Given the description of an element on the screen output the (x, y) to click on. 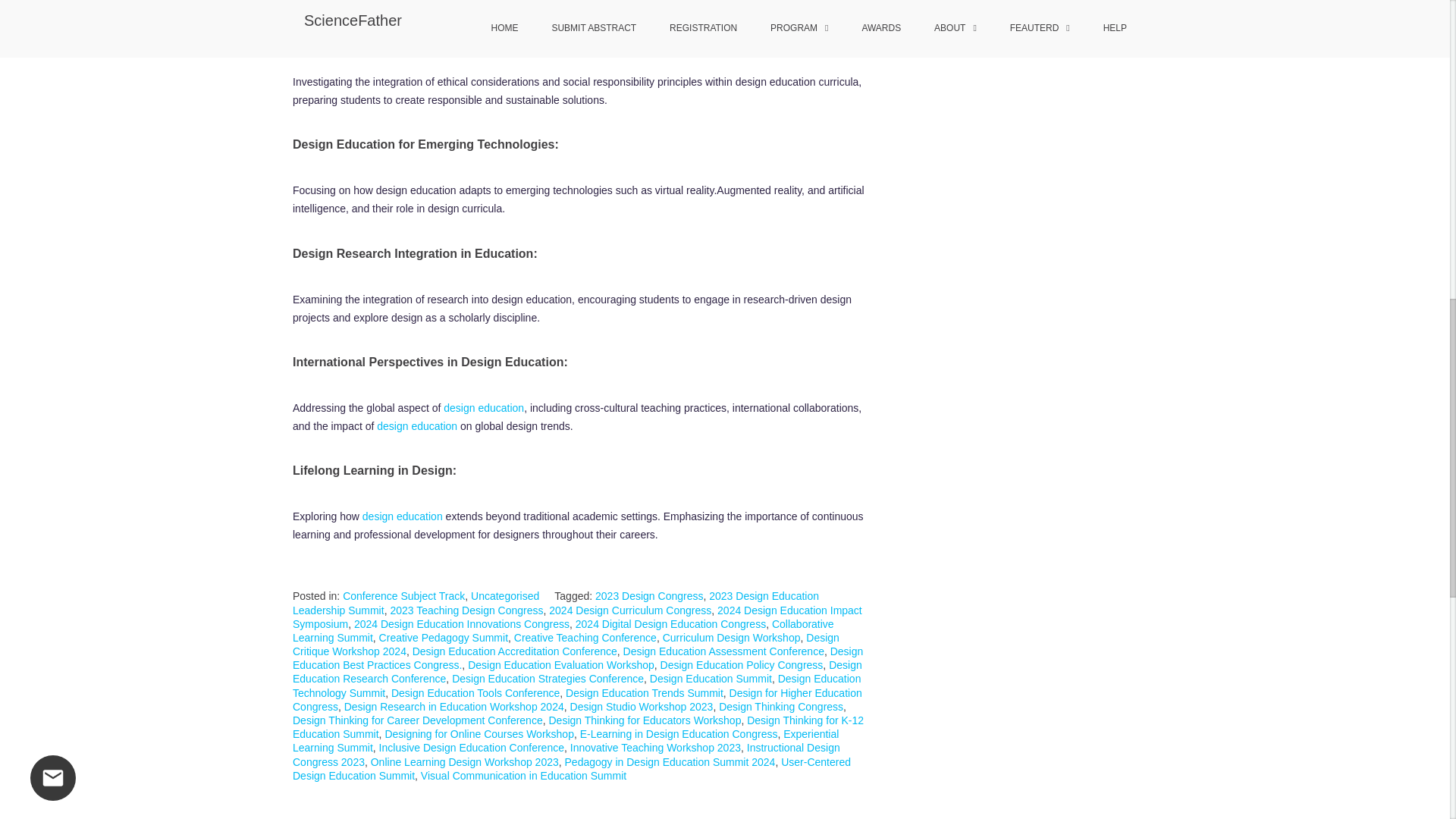
2024 Design Education Innovations Congress (461, 623)
Conference Subject Track (403, 595)
2023 Design Education Leadership Summit (555, 602)
2024 Design Curriculum Congress (629, 610)
2023 Design Congress (649, 595)
design education (402, 516)
design education (417, 426)
Uncategorised (504, 595)
Collaborative Learning Summit (563, 630)
2024 Design Education Impact Symposium (576, 616)
